Given the description of an element on the screen output the (x, y) to click on. 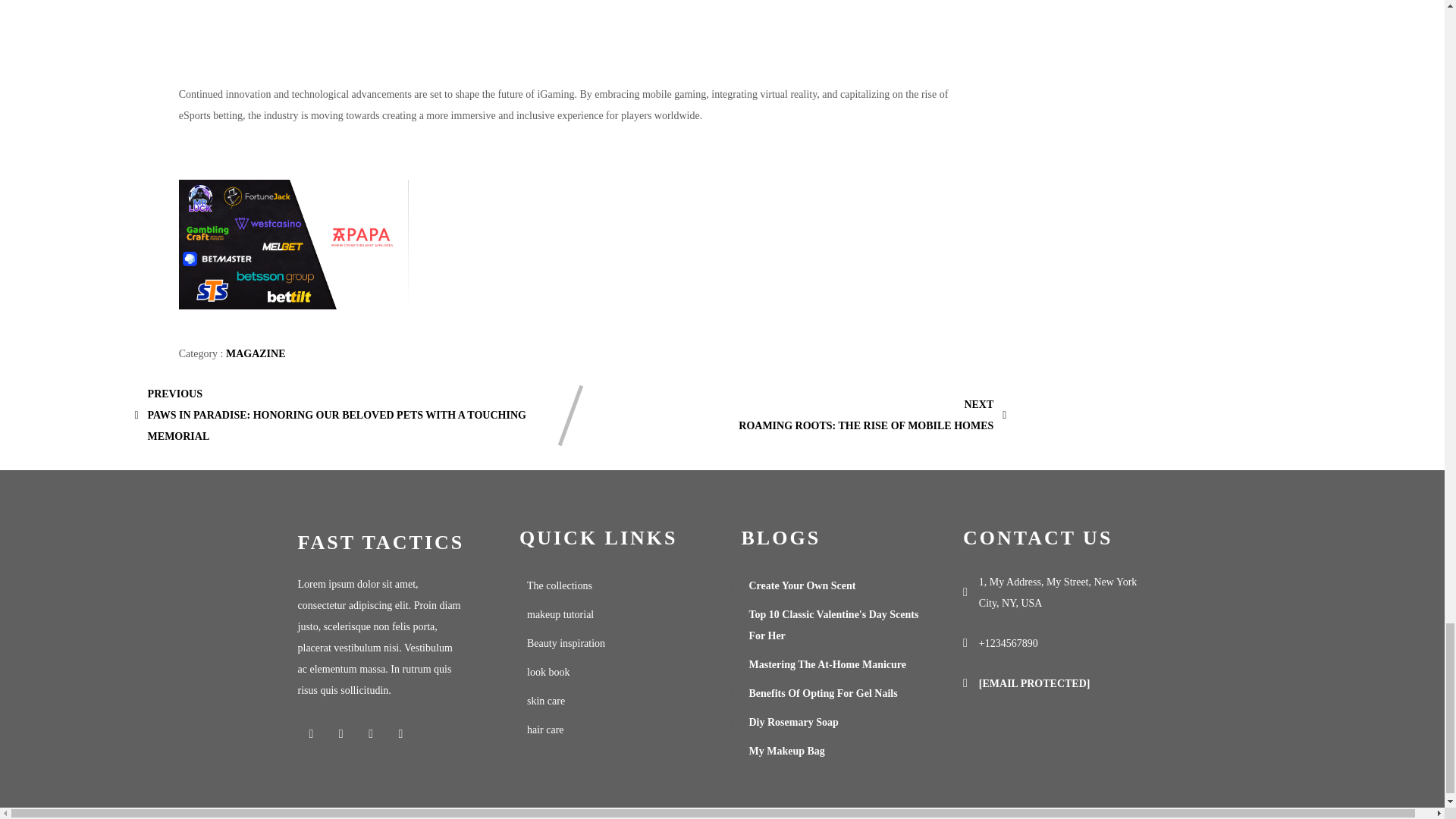
Benefits Of Opting For Gel Nails (833, 693)
Diy Rosemary Soap (833, 722)
MAGAZINE (255, 353)
Create Your Own Scent (833, 585)
Mastering The At-Home Manicure (833, 664)
Top 10 Classic Valentine'S Day Scents For Her (833, 625)
FAST TACTICS (872, 414)
My Makeup Bag (389, 542)
